Given the description of an element on the screen output the (x, y) to click on. 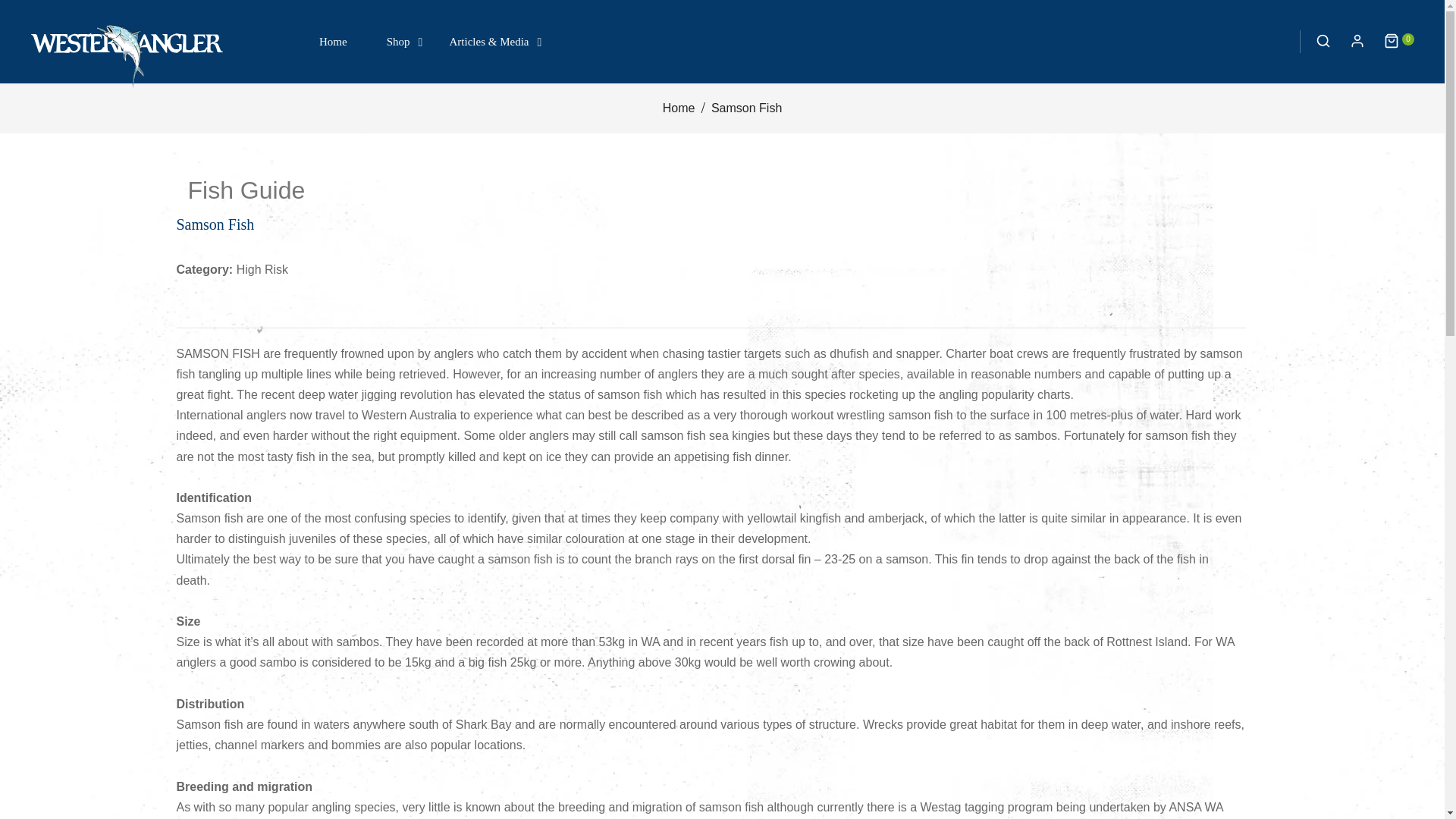
Western Angler (127, 55)
Back to the frontpage (678, 108)
Home (333, 41)
Shop (398, 41)
